Given the description of an element on the screen output the (x, y) to click on. 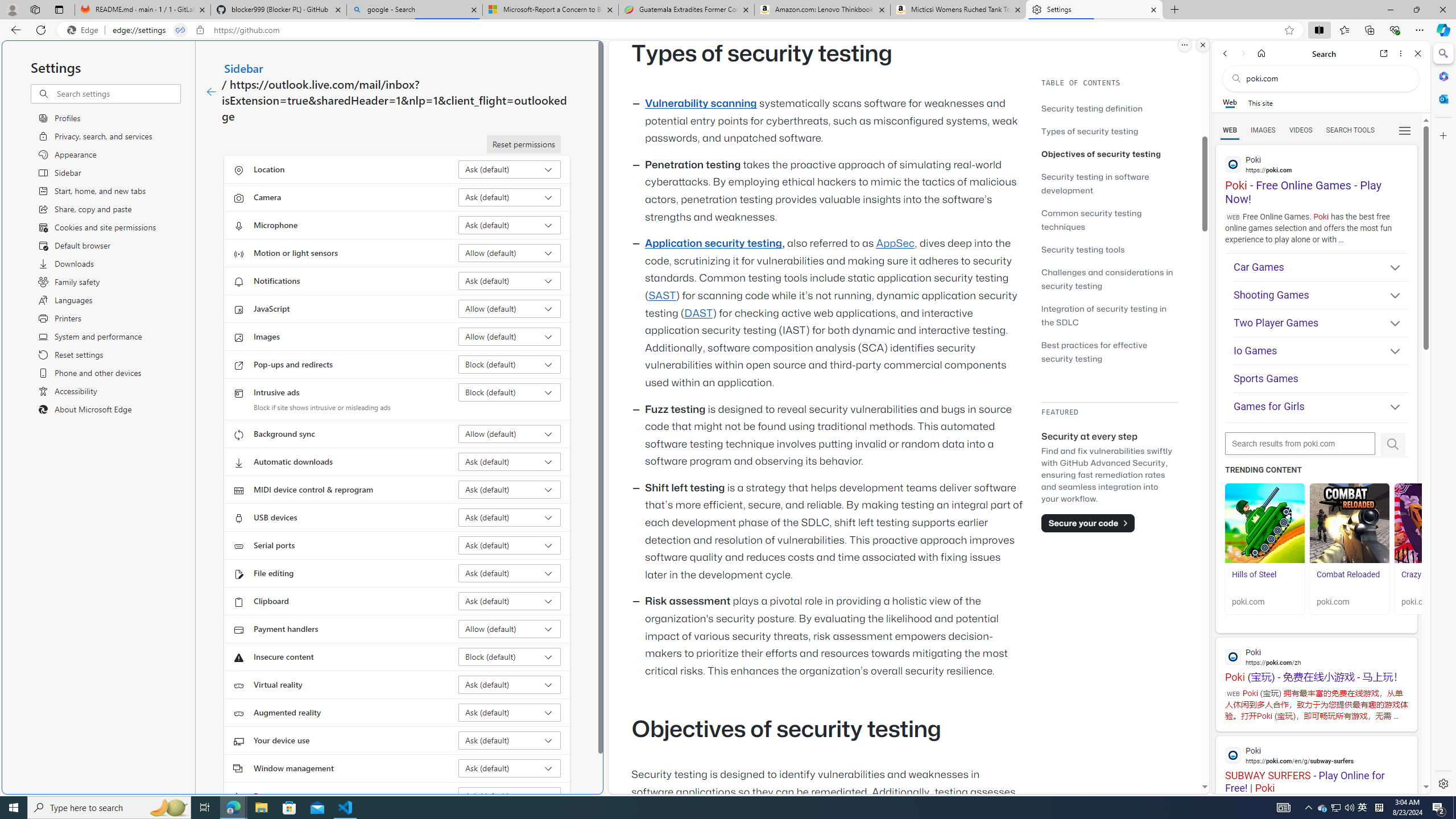
Images Allow (default) (509, 336)
Security testing tools (1083, 248)
Show More Two Player Games (1390, 323)
Types of security testing (1109, 130)
Fonts Ask (default) (509, 796)
Io Games (1320, 350)
Serial ports Ask (default) (509, 545)
Combat Reloaded Combat Reloaded poki.com (1349, 548)
Vulnerability scanning (701, 103)
Combat Reloaded (1349, 523)
